Given the description of an element on the screen output the (x, y) to click on. 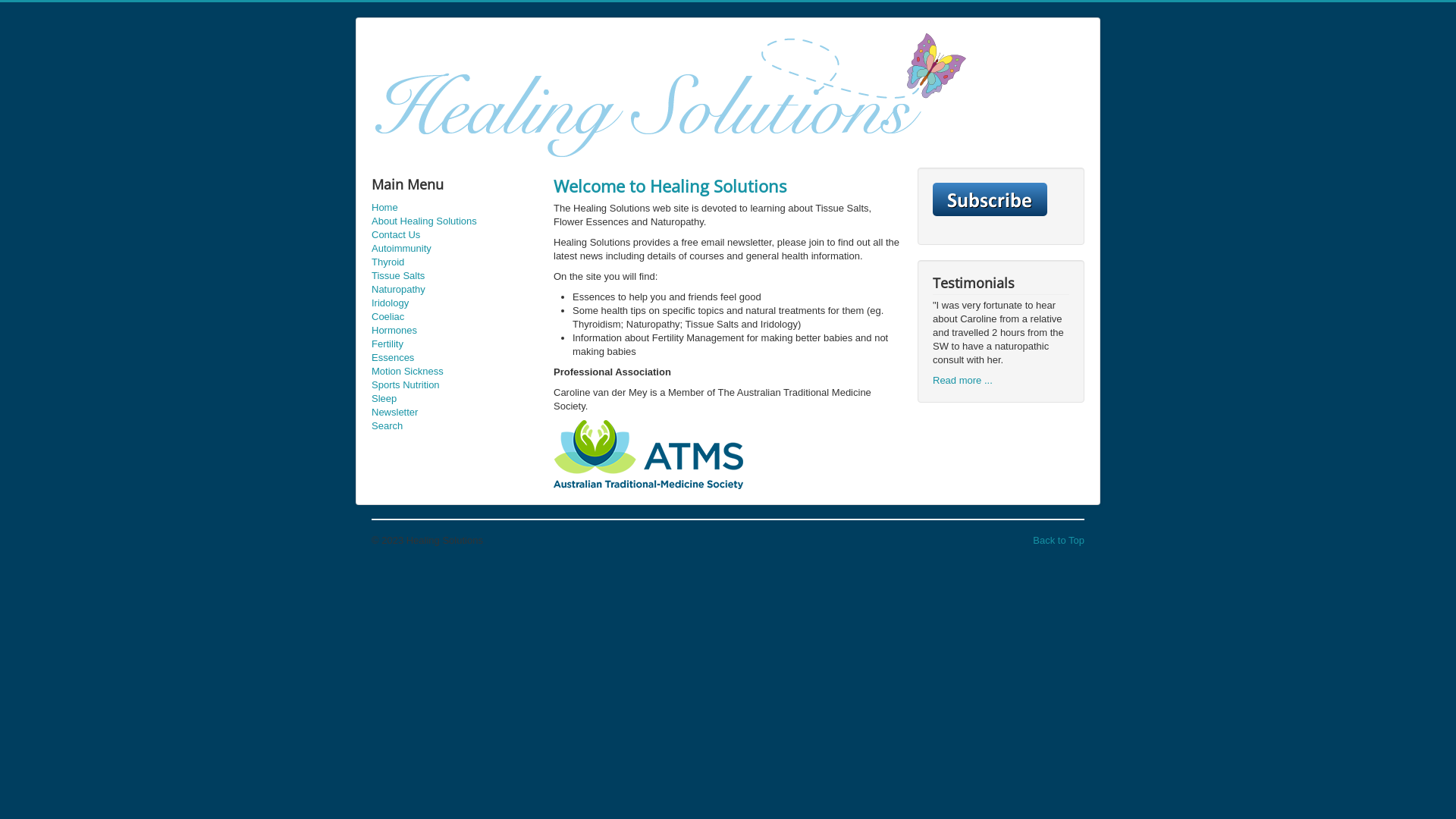
Iridology Element type: text (454, 303)
Contact Us Element type: text (454, 234)
Thyroid Element type: text (454, 262)
Sports Nutrition Element type: text (454, 385)
Essences Element type: text (454, 357)
Australian Traditional-Medicine Society (ATMS) Logo Element type: hover (648, 454)
Autoimmunity Element type: text (454, 248)
About Healing Solutions Element type: text (454, 221)
Coeliac Element type: text (454, 316)
Back to Top Element type: text (1058, 540)
Welcome to Healing Solutions Element type: text (669, 185)
Search Element type: text (454, 426)
Naturopathy Element type: text (454, 289)
Tissue Salts Element type: text (454, 275)
Hormones Element type: text (454, 330)
Motion Sickness Element type: text (454, 371)
Home Element type: text (454, 207)
Sleep Element type: text (454, 398)
Read more ... Element type: text (962, 379)
Fertility Element type: text (454, 344)
Newsletter Element type: text (454, 412)
